Given the description of an element on the screen output the (x, y) to click on. 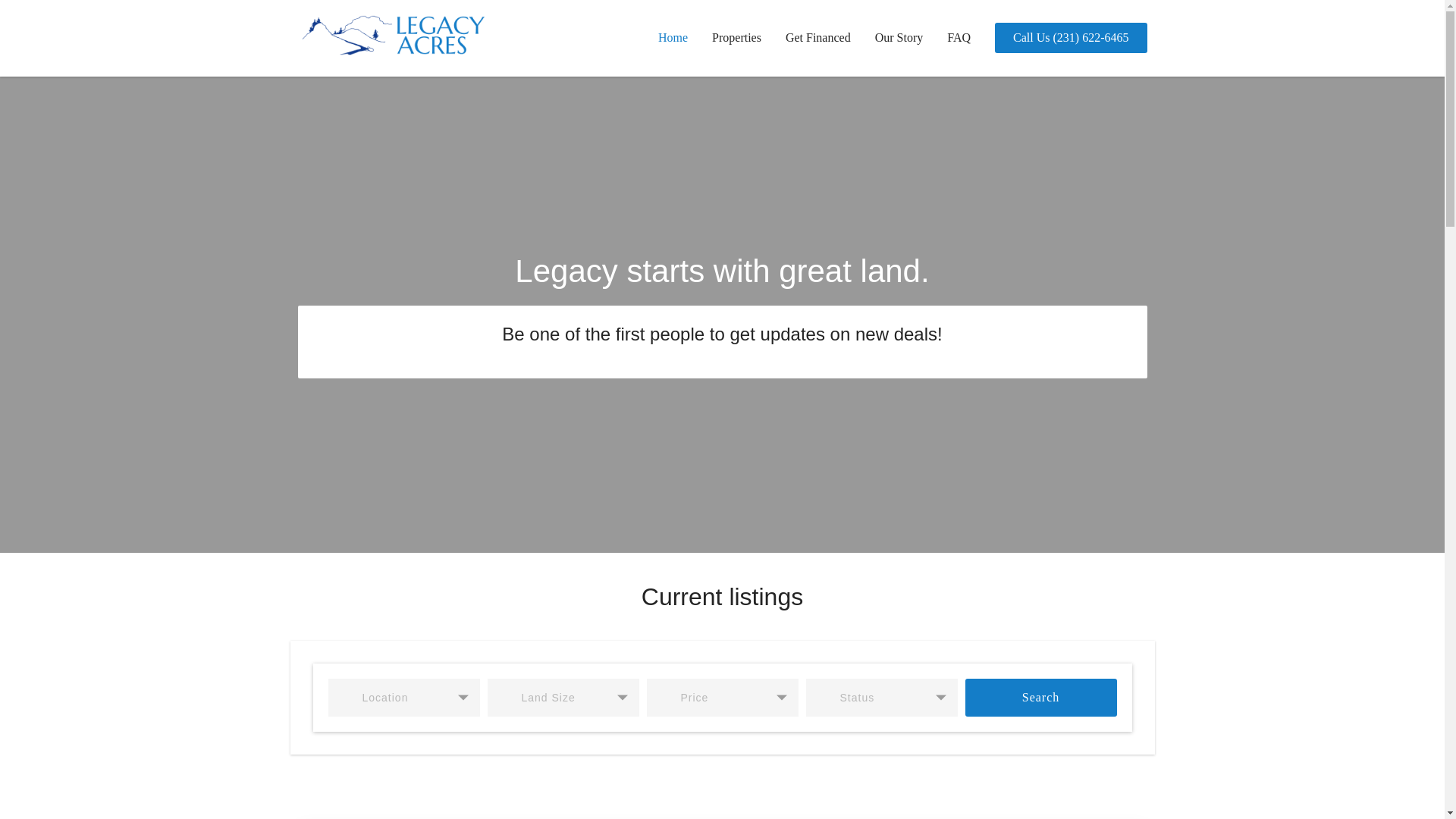
Search (1039, 697)
Get Financed (818, 37)
Search (1039, 697)
Our Story (899, 37)
FAQ (958, 37)
Properties (736, 37)
Home (673, 37)
Legacy Acres (344, 37)
